Given the description of an element on the screen output the (x, y) to click on. 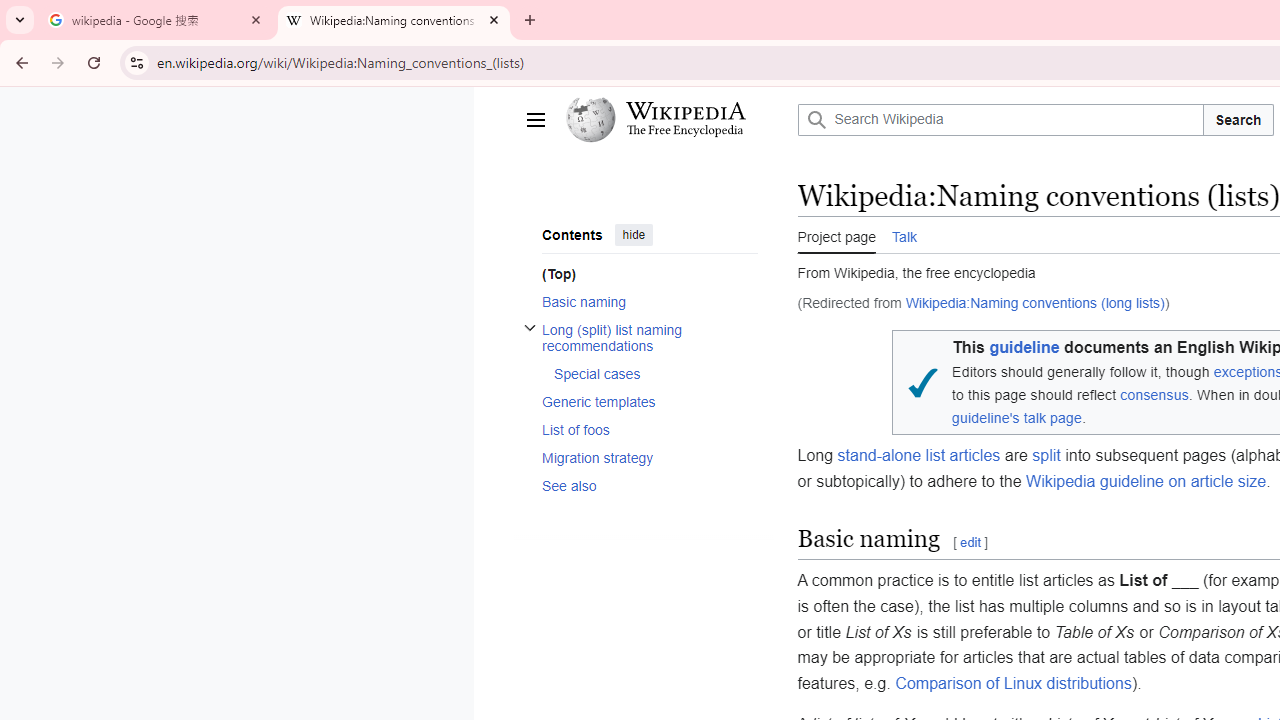
Main menu (534, 119)
AutomationID: toc-Basic_naming (642, 301)
edit (970, 542)
AutomationID: toc-Special_cases (649, 373)
AutomationID: toc-List_of_foos (642, 429)
(Top) (649, 273)
Search Wikipedia (1000, 119)
AutomationID: toc-See_also (642, 484)
Project page (836, 235)
AutomationID: toc-Long_(split)_list_naming_recommendations (642, 351)
split (1046, 456)
